Given the description of an element on the screen output the (x, y) to click on. 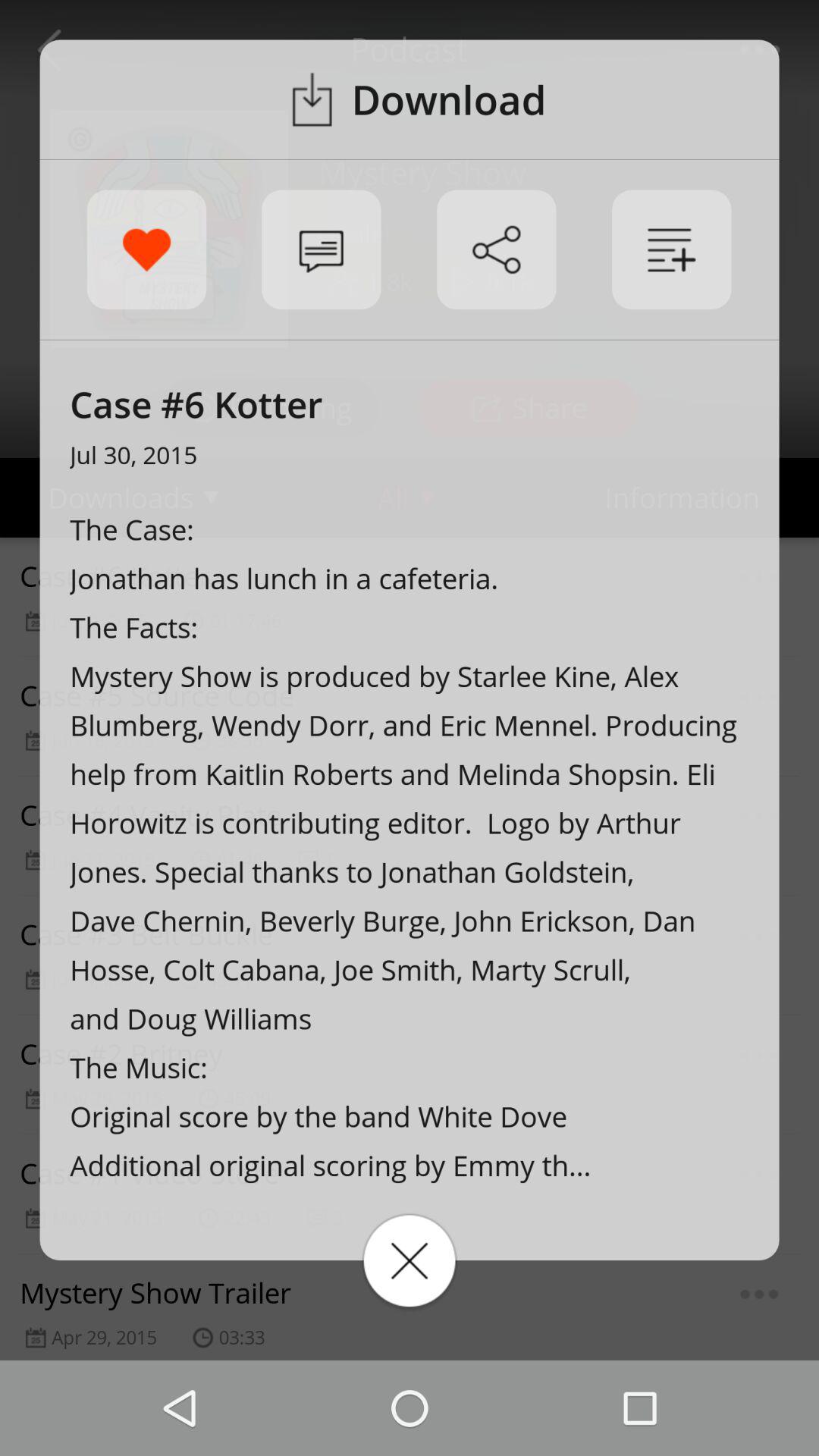
share the article (496, 249)
